Given the description of an element on the screen output the (x, y) to click on. 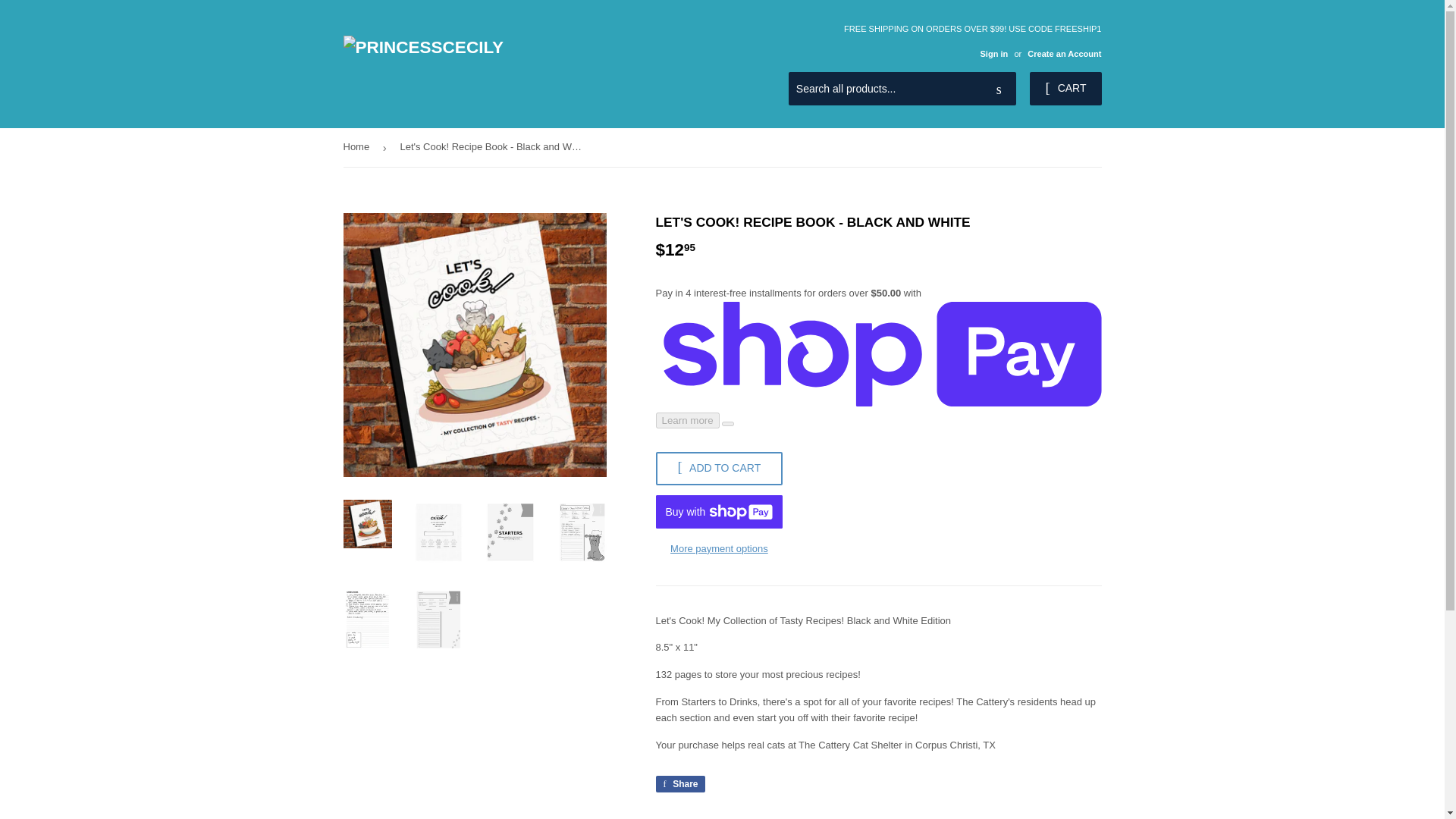
Search (998, 89)
Share on Facebook (679, 783)
More payment options (719, 548)
CART (1064, 88)
Sign in (679, 783)
Create an Account (993, 53)
ADD TO CART (1063, 53)
